Given the description of an element on the screen output the (x, y) to click on. 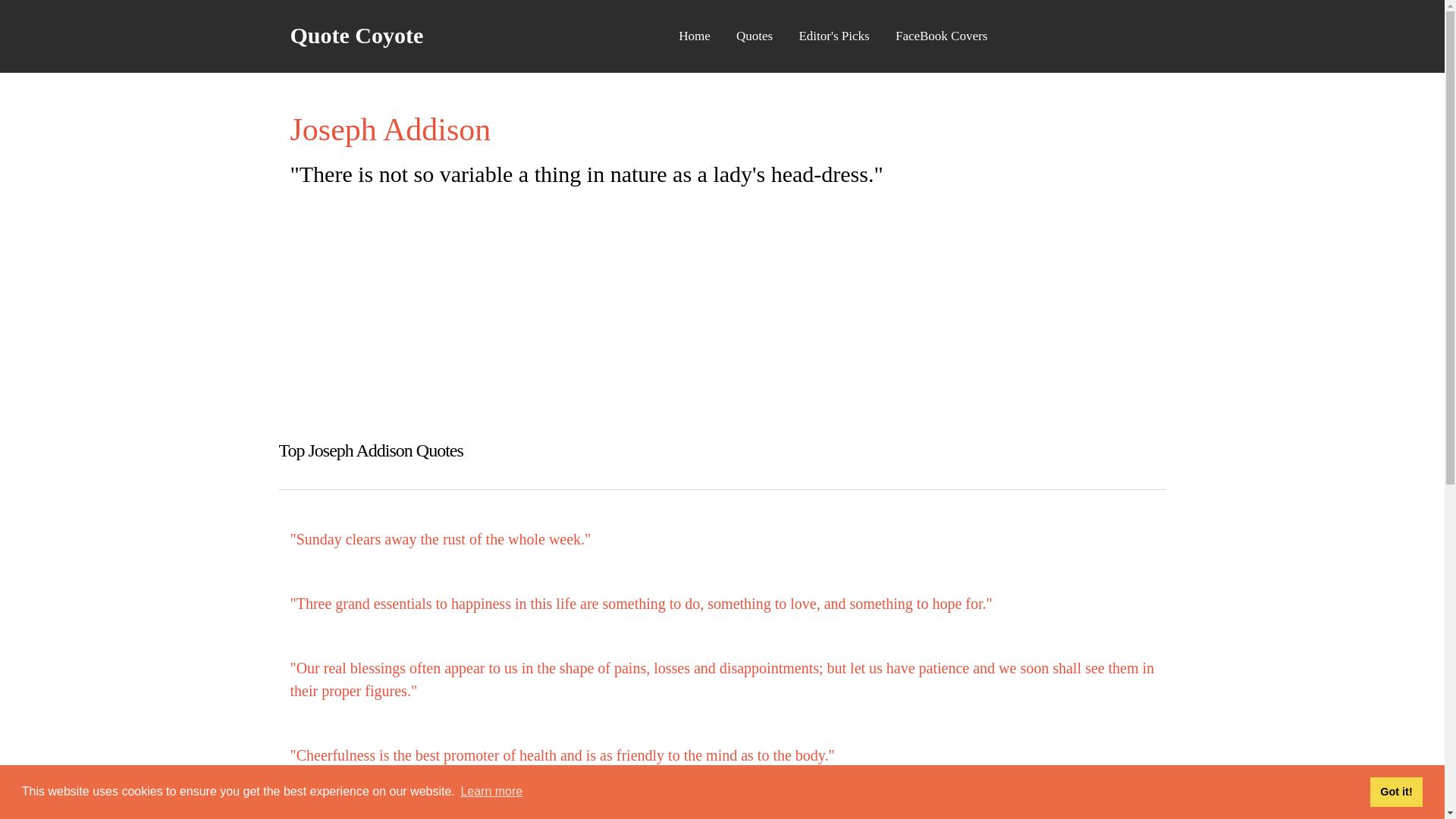
Learn more (491, 791)
Advertisement (721, 303)
"Sunday clears away the rust of the whole week." (440, 538)
Quote Coyote (356, 35)
Joseph Addison quotes (640, 603)
Editor's Picks (833, 36)
Joseph Addison quotes (721, 679)
FaceBook Covers (940, 36)
Got it! (1396, 791)
Joseph Addison (389, 129)
Joseph Addison quotes (561, 754)
Joseph Addison quotes (440, 538)
